Given the description of an element on the screen output the (x, y) to click on. 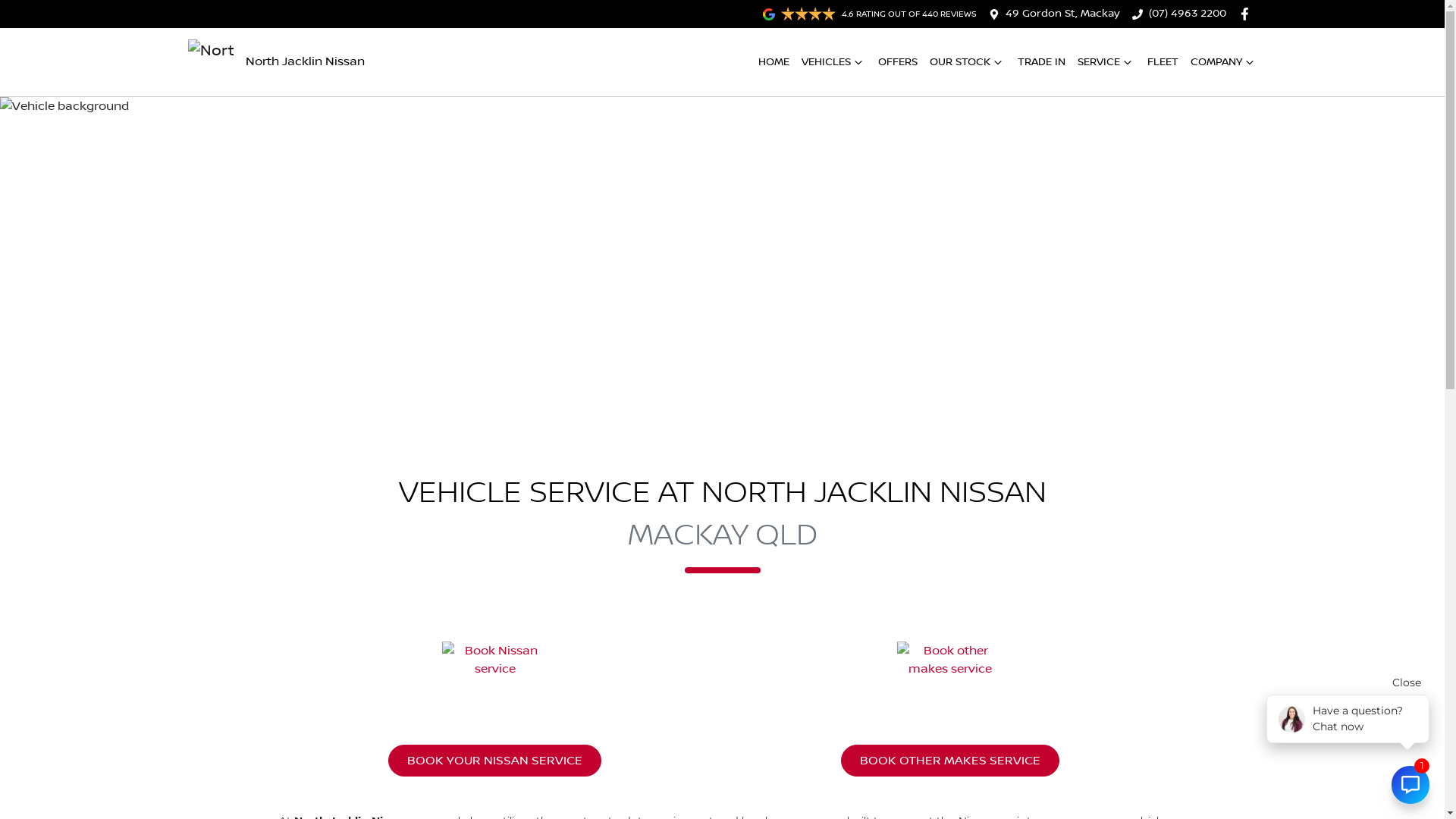
COMPANY Element type: text (1223, 62)
OFFERS Element type: text (897, 62)
FLEET Element type: text (1161, 62)
North Jacklin Nissan Element type: text (276, 62)
SERVICE Element type: text (1105, 62)
TRADE IN Element type: text (1041, 62)
OUR STOCK Element type: text (967, 62)
BOOK OTHER MAKES SERVICE Element type: text (949, 760)
VEHICLES Element type: text (832, 62)
BOOK YOUR NISSAN SERVICE Element type: text (494, 760)
49 Gordon St, Mackay Element type: text (1062, 13)
(07) 4963 2200 Element type: text (1187, 13)
HOME Element type: text (773, 62)
